Given the description of an element on the screen output the (x, y) to click on. 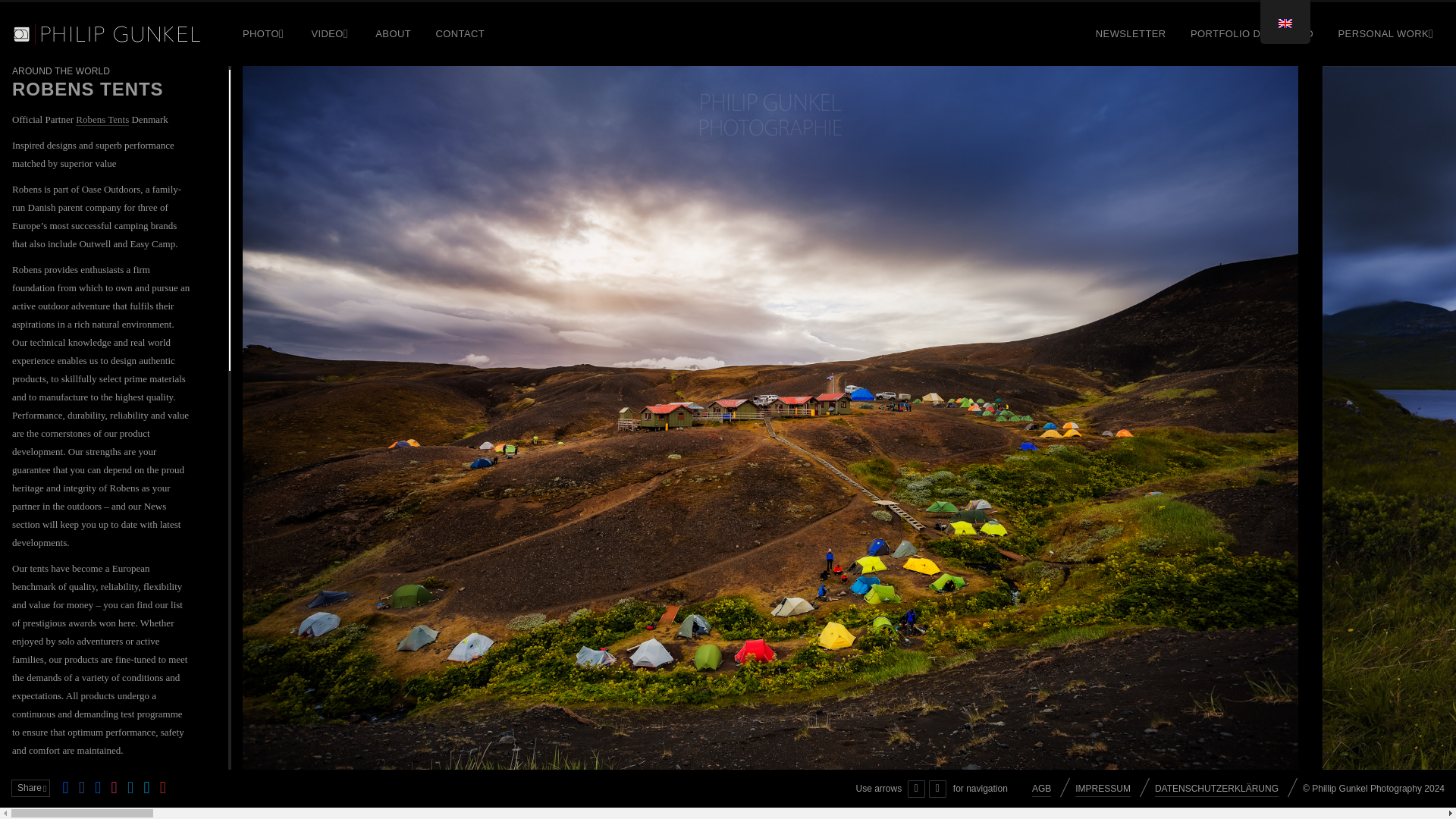
NEWSLETTER (1130, 33)
Robens Tents (102, 119)
PERSONAL WORK (1387, 33)
PORTFOLIO DOWNLOAD (1251, 33)
VIDEO (330, 33)
CONTACT (460, 33)
